Given the description of an element on the screen output the (x, y) to click on. 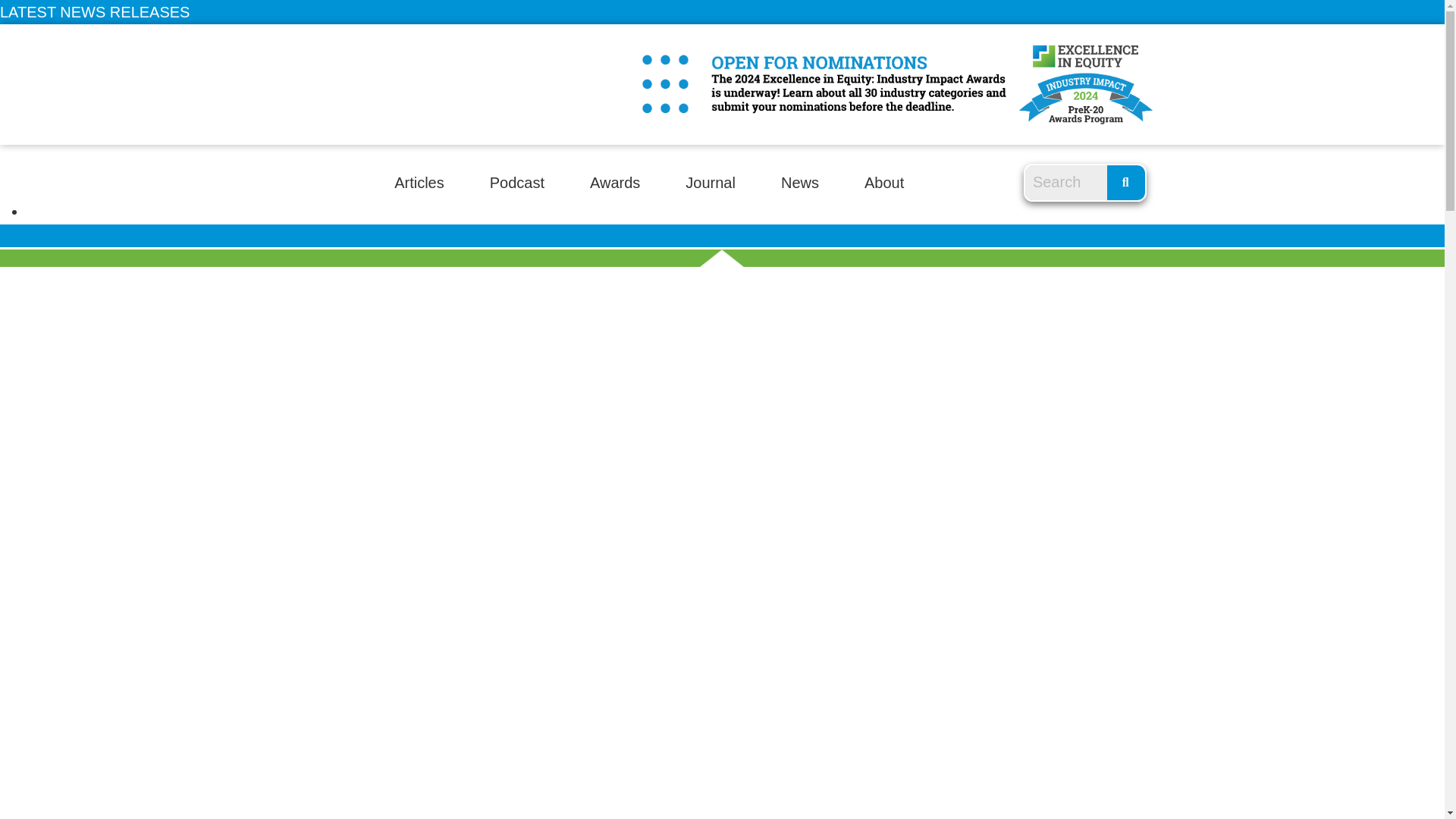
Published on: July 15, 2024 (55, 191)
Published on: June 27, 2024 (55, 270)
Published on: June 26, 2024 (55, 289)
Published on: July 8, 2024 (55, 230)
Published on: August 22, 2024 (55, 93)
Published on: August 27, 2024 (55, 53)
Published on: July 9, 2024 (55, 211)
Published on: June 27, 2024 (55, 250)
Published on: July 31, 2024 (55, 171)
Published on: August 19, 2024 (55, 112)
